Given the description of an element on the screen output the (x, y) to click on. 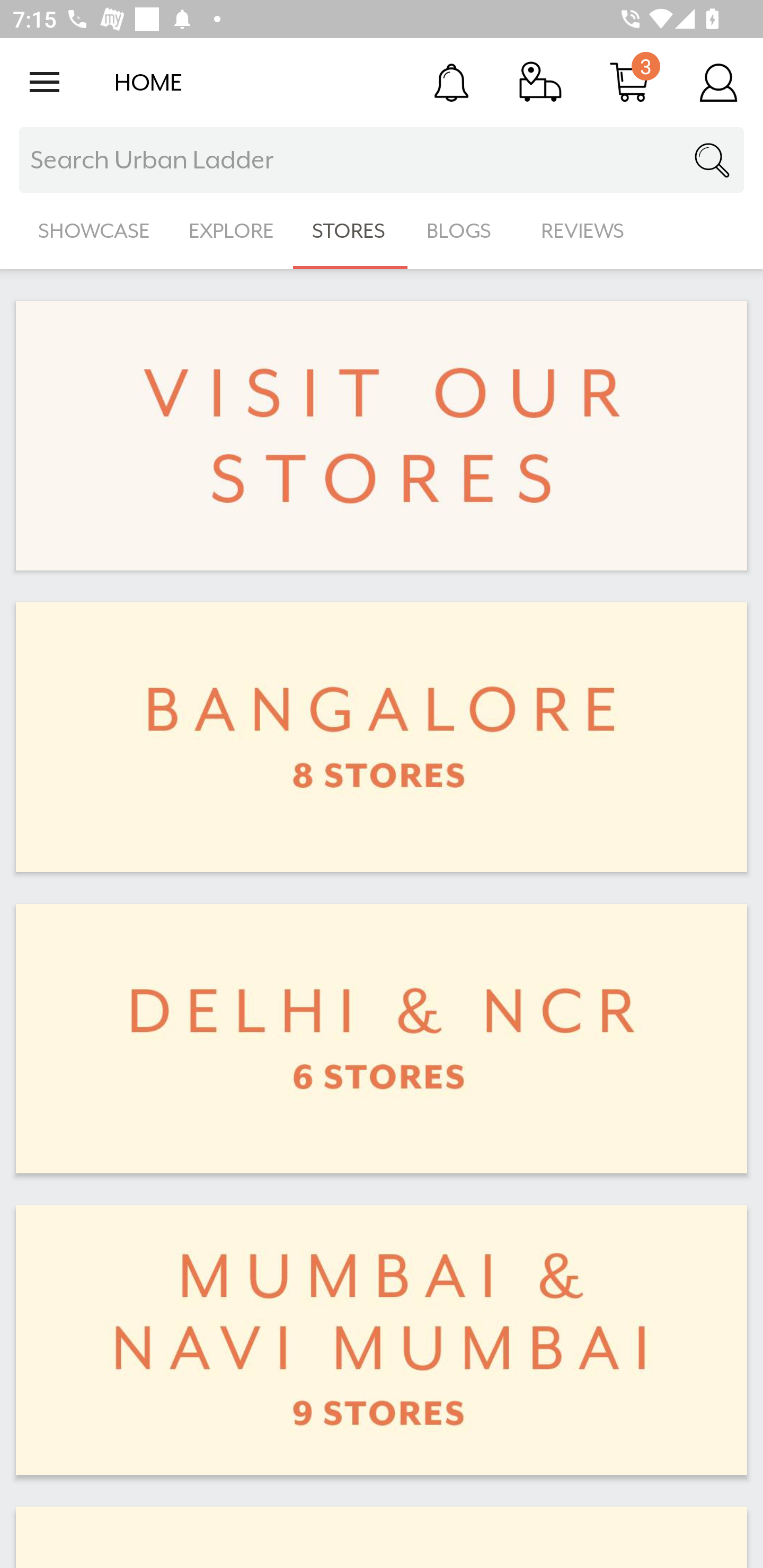
Open navigation drawer (44, 82)
Notification (450, 81)
Track Order (540, 81)
Cart (629, 81)
Account Details (718, 81)
Search Urban Ladder  (381, 159)
SHOWCASE (94, 230)
EXPLORE (230, 230)
STORES (349, 230)
BLOGS (464, 230)
REVIEWS (582, 230)
